Given the description of an element on the screen output the (x, y) to click on. 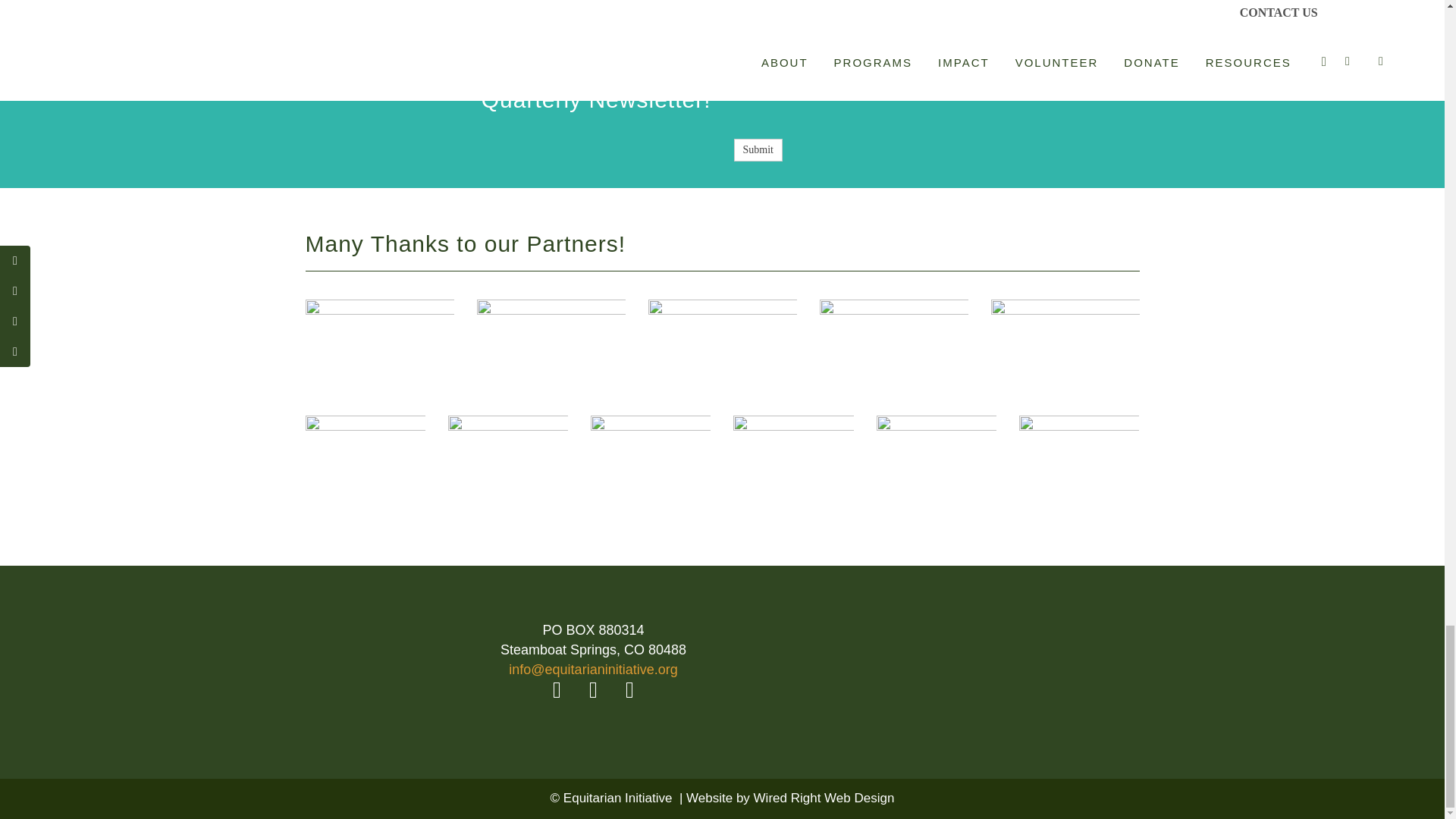
ZoologyLogowithtagline2015-copy-2 (550, 336)
a40dede1-07c8-49fa-9500-caca749f6f12 (893, 326)
SPANA Animals logo 1d3 Stacked (650, 475)
Submit (758, 149)
worldhorsewelfare (364, 443)
donkey sanctuary (378, 340)
7b533431-85e1-4659-b8d9-9d4bbb2ed6e0 (507, 481)
